Given the description of an element on the screen output the (x, y) to click on. 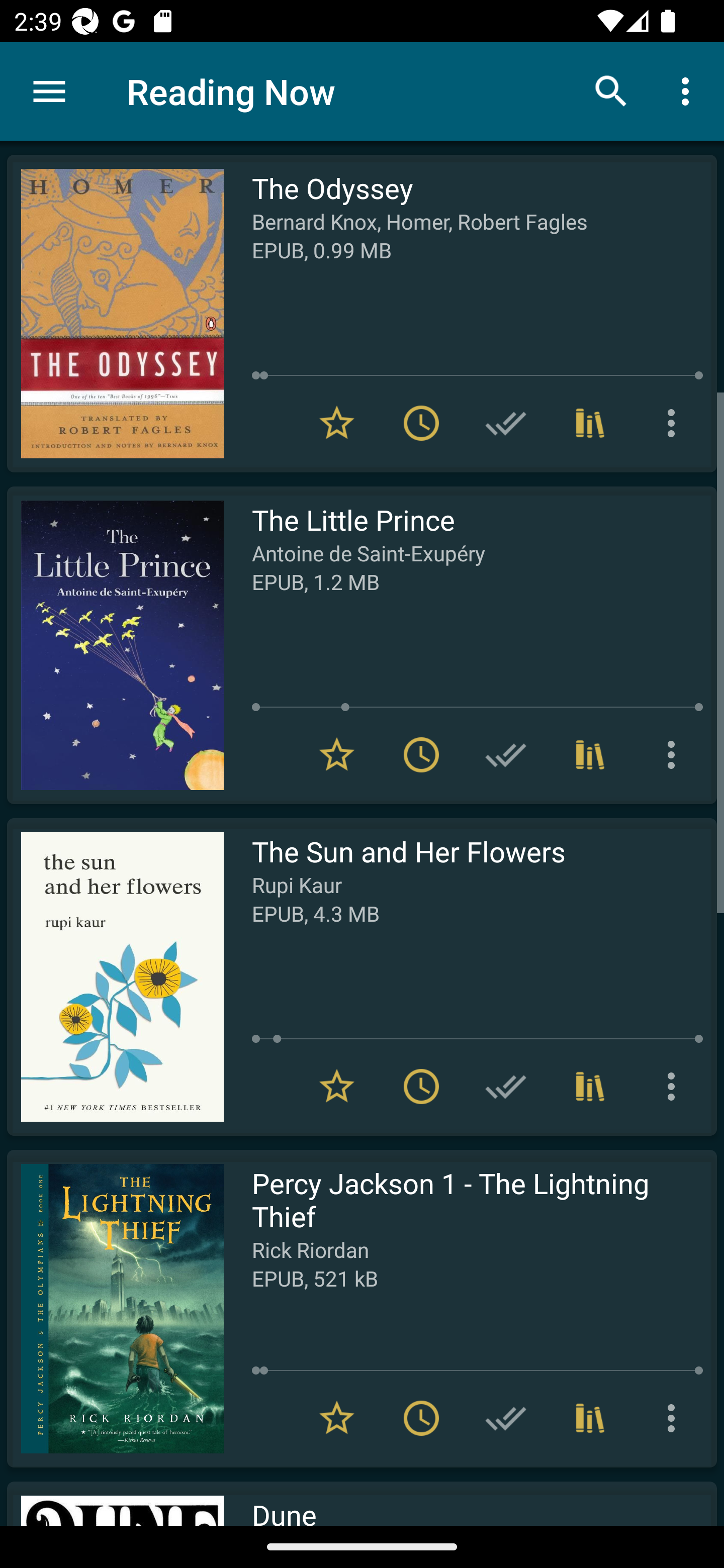
Menu (49, 91)
Search books & documents (611, 90)
More options (688, 90)
Read The Odyssey (115, 313)
Remove from Favorites (336, 423)
Remove from To read (421, 423)
Add to Have read (505, 423)
Collections (3) (590, 423)
More options (674, 423)
Read The Little Prince (115, 645)
Remove from Favorites (336, 753)
Remove from To read (421, 753)
Add to Have read (505, 753)
Collections (1) (590, 753)
More options (674, 753)
Read The Sun and Her Flowers (115, 976)
Remove from Favorites (336, 1086)
Remove from To read (421, 1086)
Add to Have read (505, 1086)
Collections (1) (590, 1086)
More options (674, 1086)
Read Percy Jackson 1 - The Lightning Thief (115, 1308)
Remove from Favorites (336, 1417)
Remove from To read (421, 1417)
Add to Have read (505, 1417)
Collections (1) (590, 1417)
More options (674, 1417)
